Given the description of an element on the screen output the (x, y) to click on. 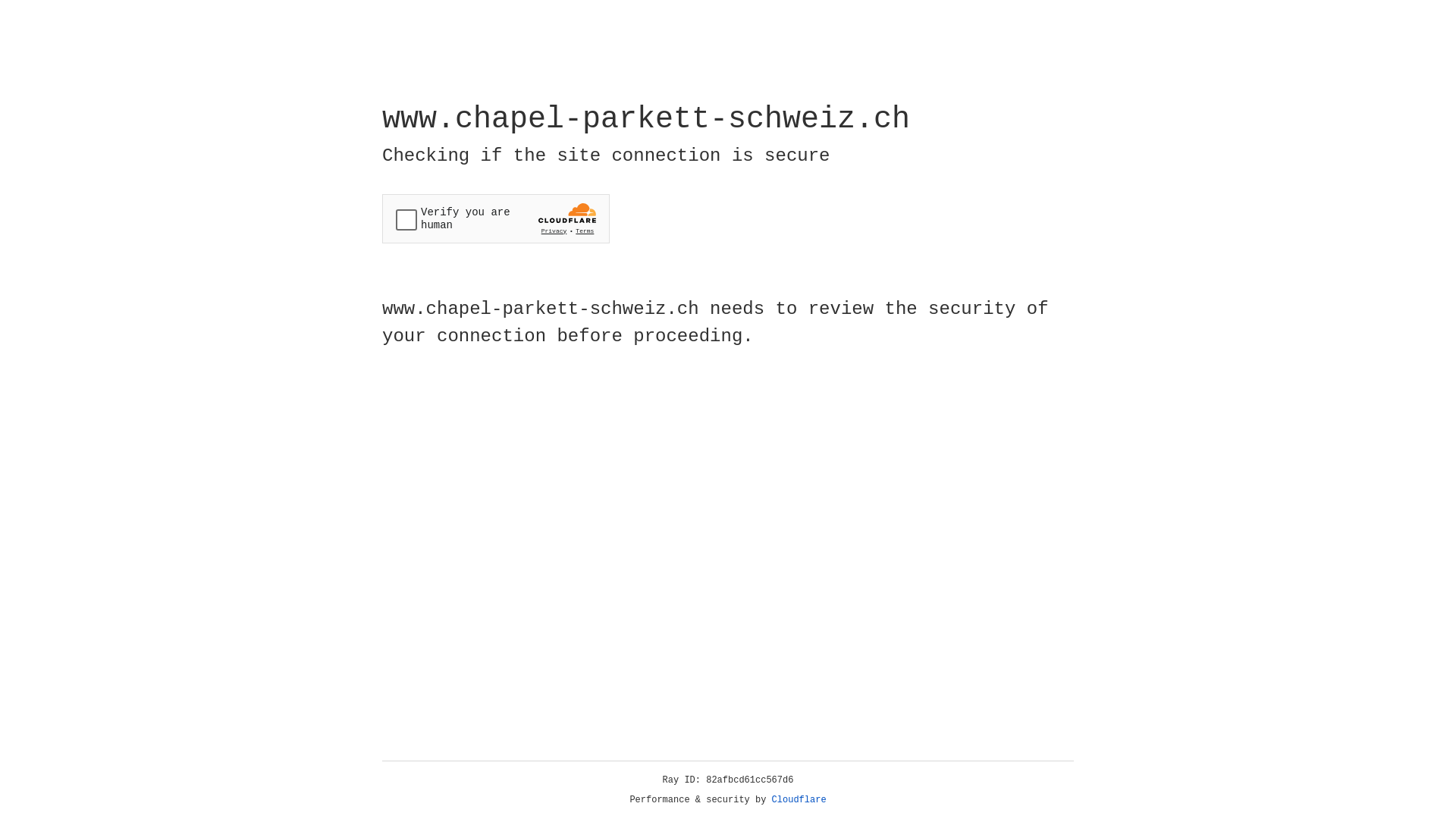
Cloudflare Element type: text (798, 799)
Widget containing a Cloudflare security challenge Element type: hover (495, 218)
